Given the description of an element on the screen output the (x, y) to click on. 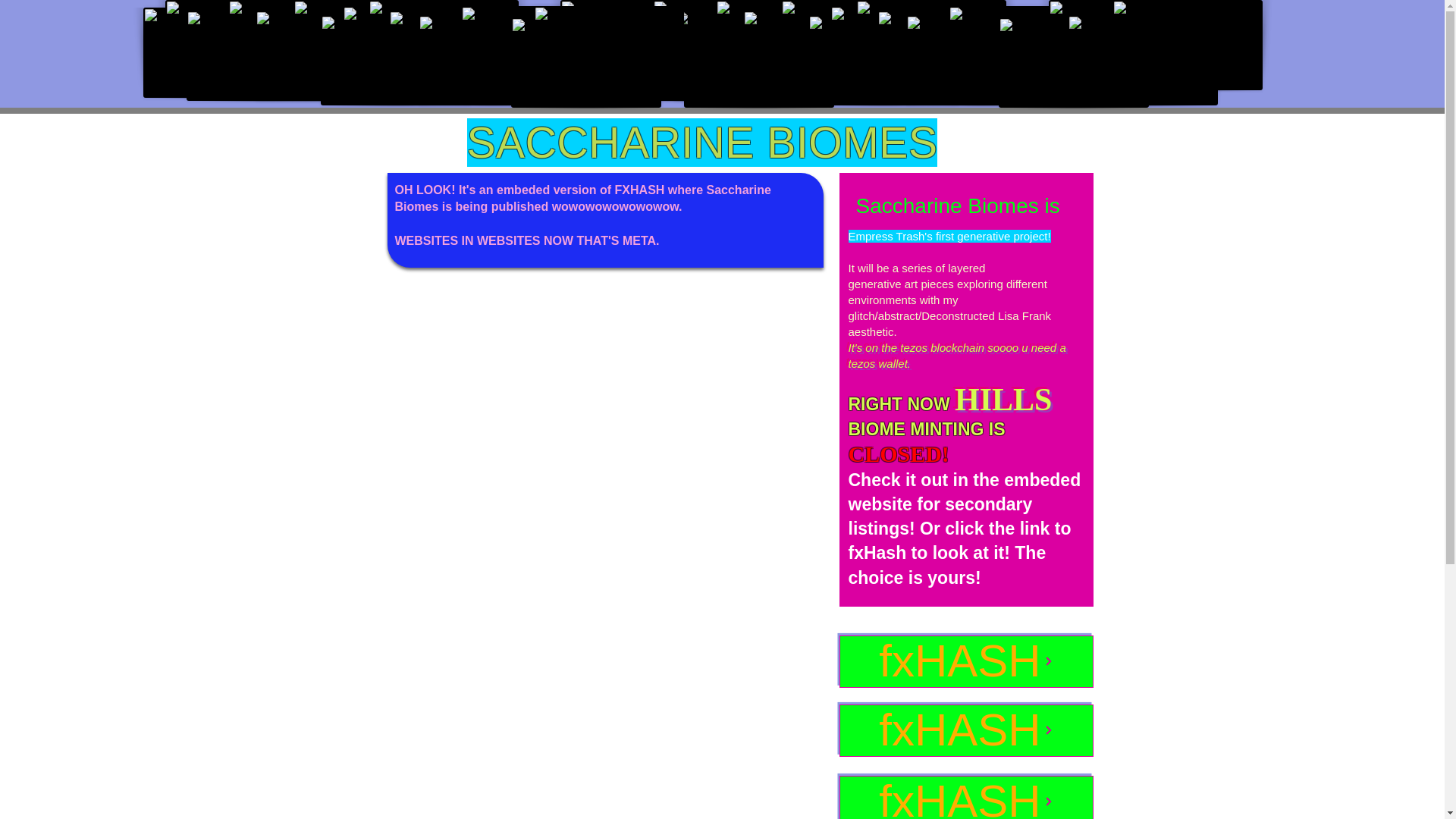
fxHASH (965, 661)
fxHASH (965, 797)
fxHASH (965, 730)
